Given the description of an element on the screen output the (x, y) to click on. 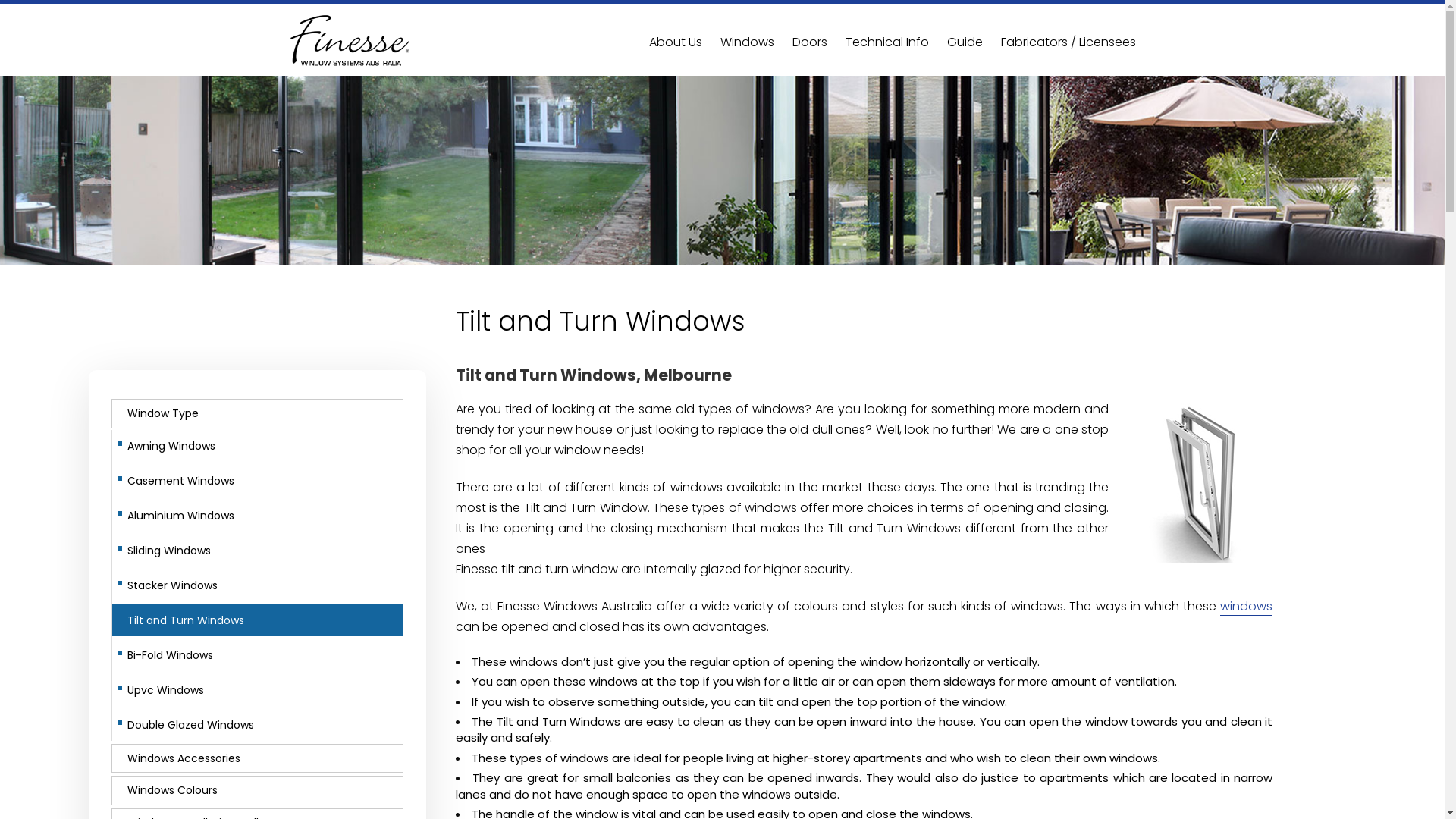
Window Type Element type: text (257, 413)
Windows Colours Element type: text (257, 790)
Windows Element type: text (746, 41)
Tilt and Turn Windows Element type: text (257, 620)
Casement Windows Element type: text (257, 480)
Stacker Windows Element type: text (257, 585)
Technical Info Element type: text (886, 41)
Windows Accessories Element type: text (257, 758)
Awning Windows Element type: text (257, 445)
About Us Element type: text (675, 41)
Tilt and Turn Windows Melbourne Element type: hover (1200, 483)
Aluminium Windows Element type: text (257, 515)
Sliding Windows Element type: text (257, 550)
Upvc Windows Element type: text (257, 690)
Guide Element type: text (963, 41)
Bi-Fold Windows Element type: text (257, 655)
windows Element type: text (1246, 606)
Doors Element type: text (809, 41)
Double Glazed Windows Element type: text (257, 724)
Fabricators / Licensees Element type: text (1068, 41)
